Given the description of an element on the screen output the (x, y) to click on. 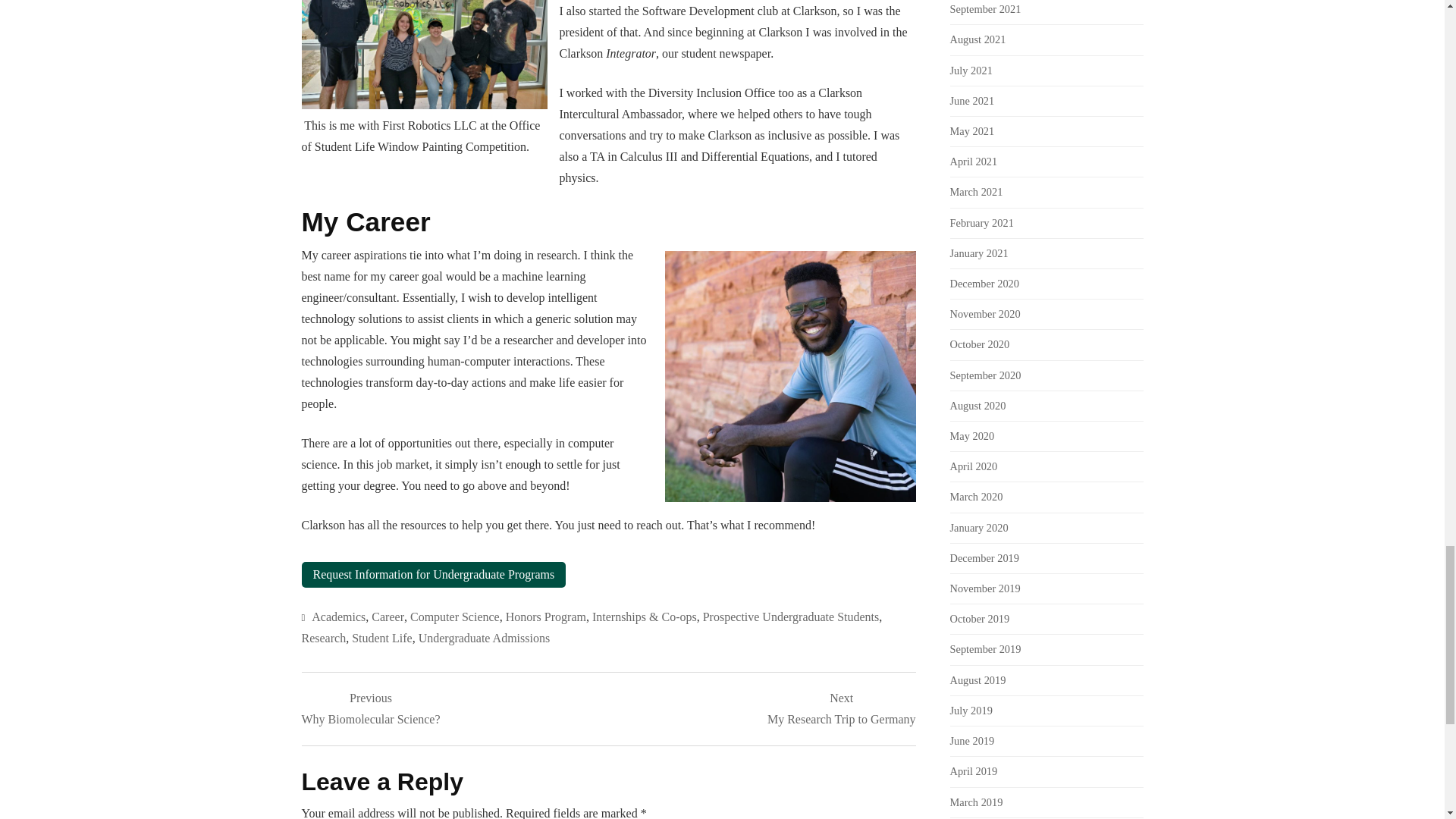
Research (323, 637)
Prospective Undergraduate Students (791, 616)
Honors Program (545, 616)
Student Life (841, 708)
Academics (382, 637)
Career (371, 708)
Undergraduate Admissions (338, 616)
Computer Science (387, 616)
